Given the description of an element on the screen output the (x, y) to click on. 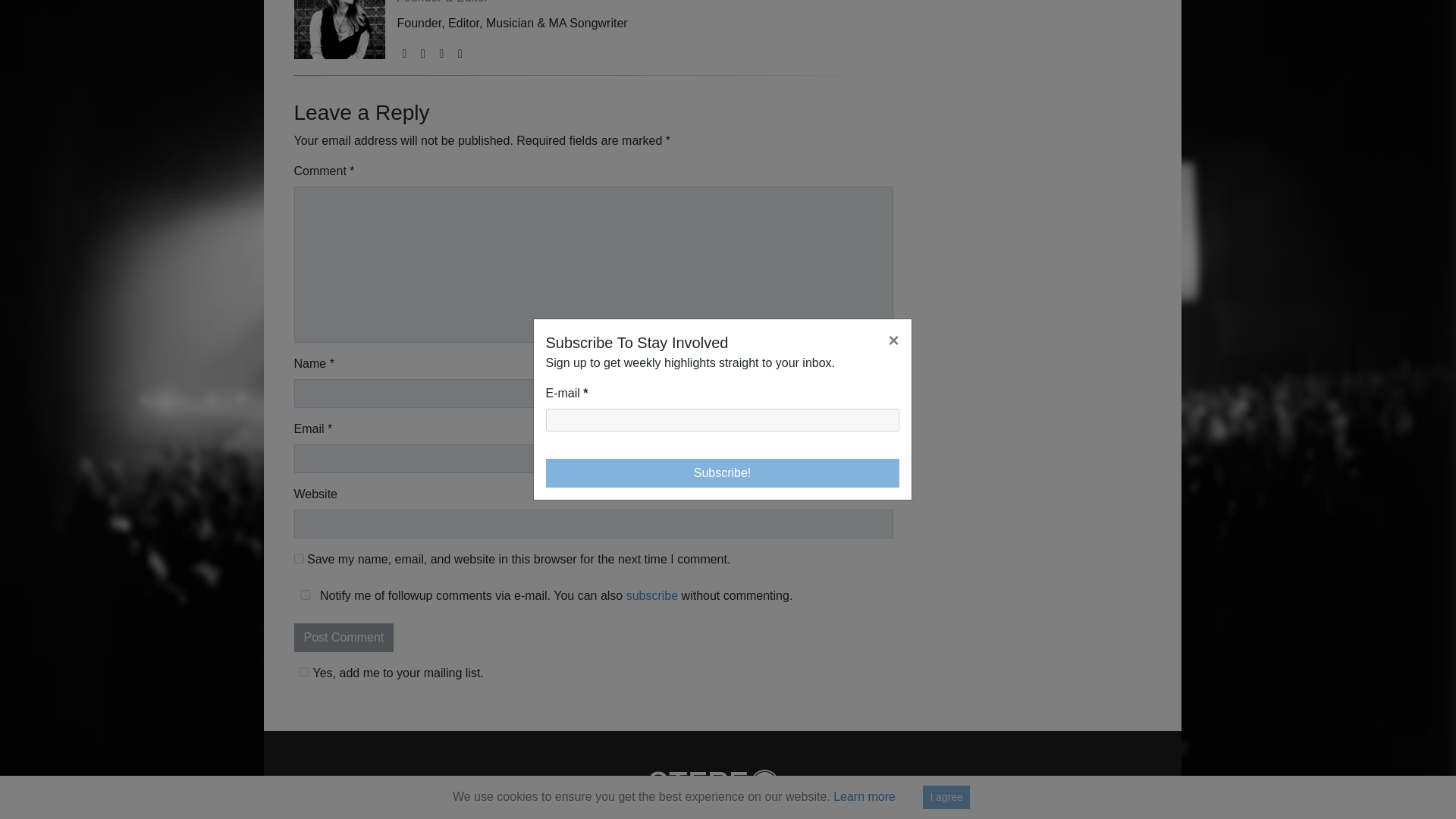
Post Comment (344, 637)
